Given the description of an element on the screen output the (x, y) to click on. 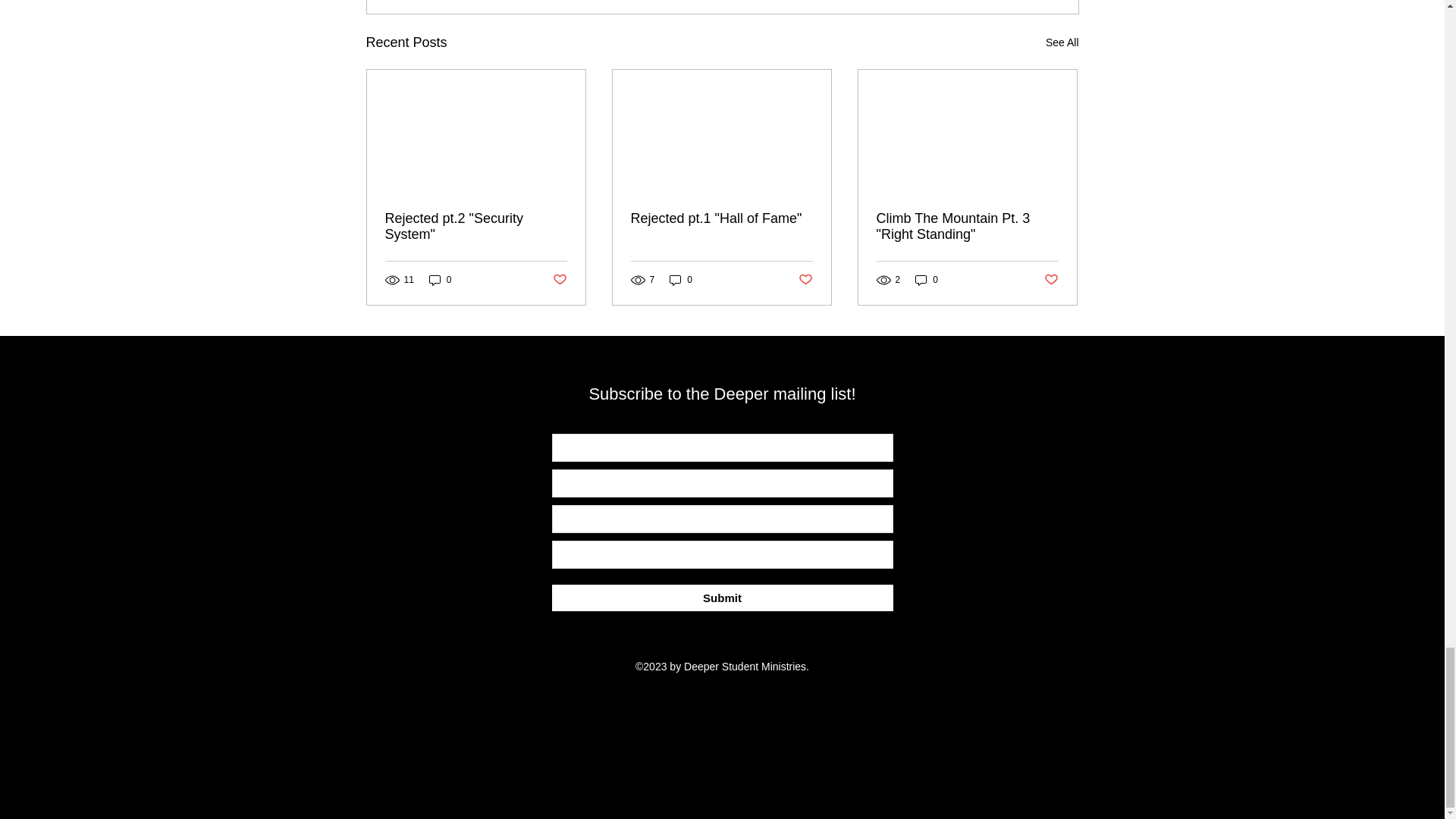
Post not marked as liked (558, 279)
See All (1061, 42)
Rejected pt.1 "Hall of Fame" (721, 218)
Climb The Mountain Pt. 3 "Right Standing" (967, 226)
Submit (722, 597)
0 (926, 279)
Post not marked as liked (1050, 279)
0 (681, 279)
0 (440, 279)
Post not marked as liked (804, 279)
